Given the description of an element on the screen output the (x, y) to click on. 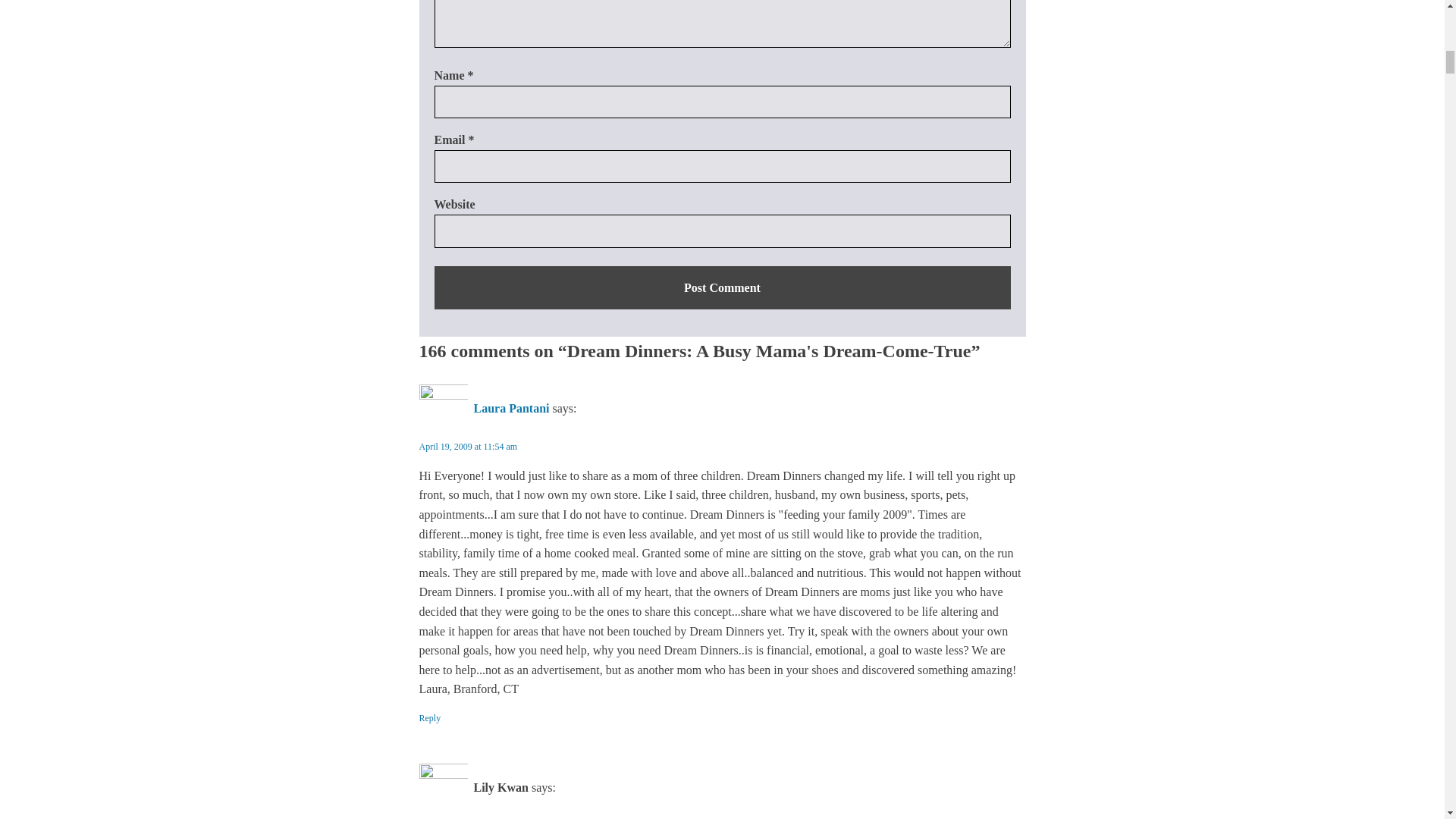
Post Comment (721, 288)
Post Comment (721, 288)
Laura Pantani (510, 408)
April 19, 2009 at 11:54 am (467, 446)
Reply (430, 718)
